Given the description of an element on the screen output the (x, y) to click on. 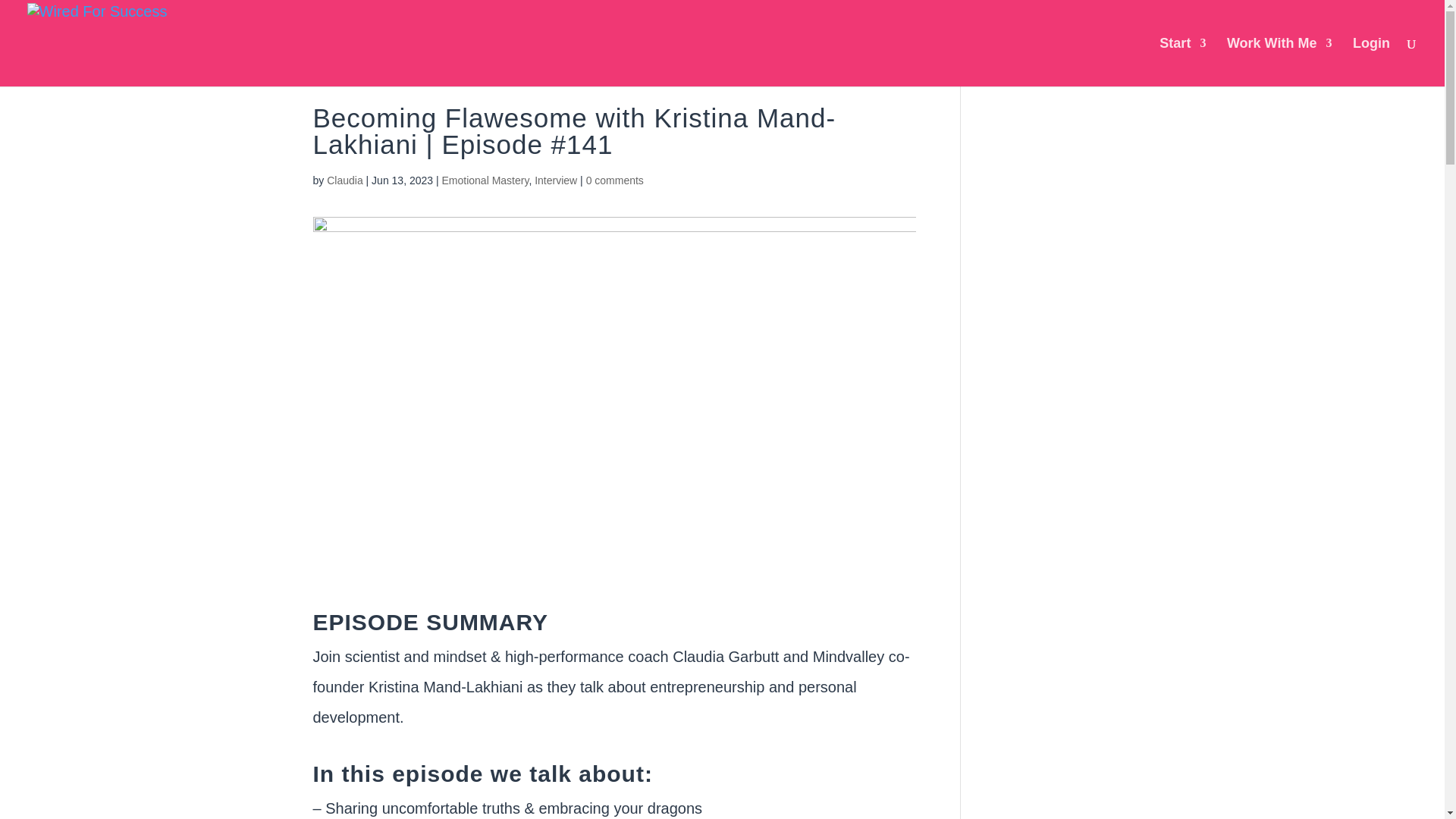
Start (1181, 61)
Interview (555, 180)
Emotional Mastery (484, 180)
Posts by Claudia (344, 180)
Work With Me (1279, 61)
Claudia (344, 180)
0 comments (614, 180)
